Given the description of an element on the screen output the (x, y) to click on. 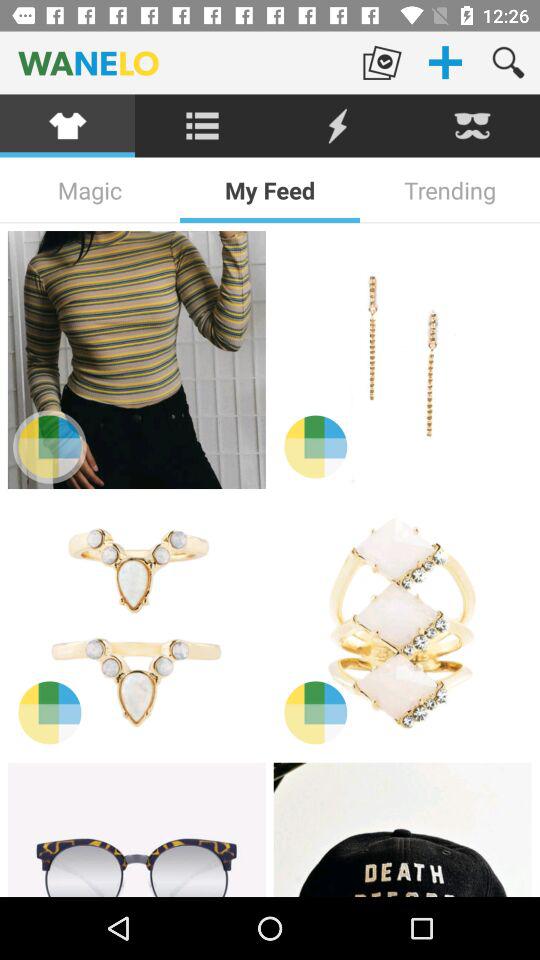
view product (136, 625)
